Given the description of an element on the screen output the (x, y) to click on. 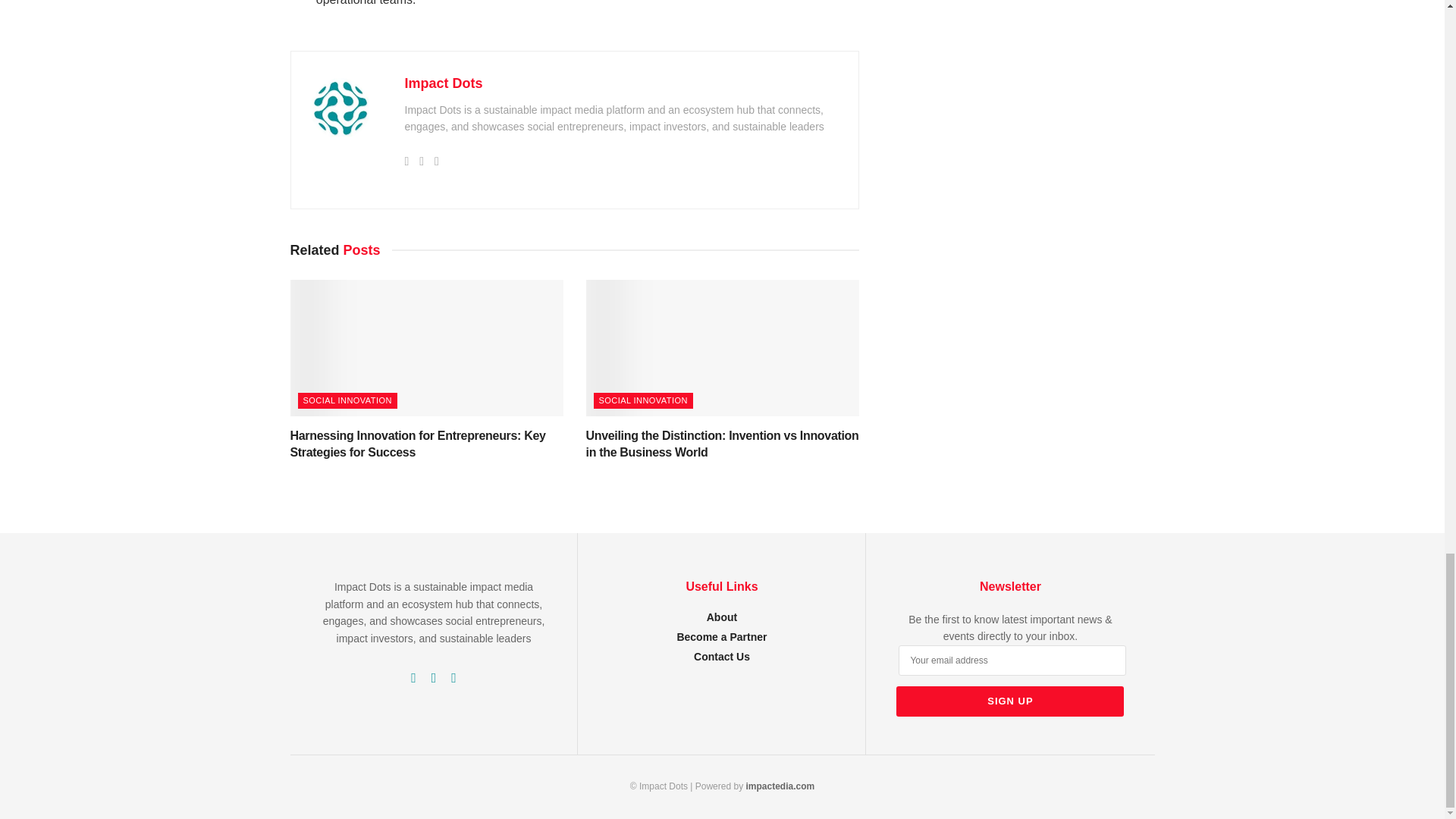
SOCIAL INNOVATION (346, 400)
Sign up (1010, 701)
Impact Dots (443, 83)
SOCIAL INNOVATION (642, 400)
